Given the description of an element on the screen output the (x, y) to click on. 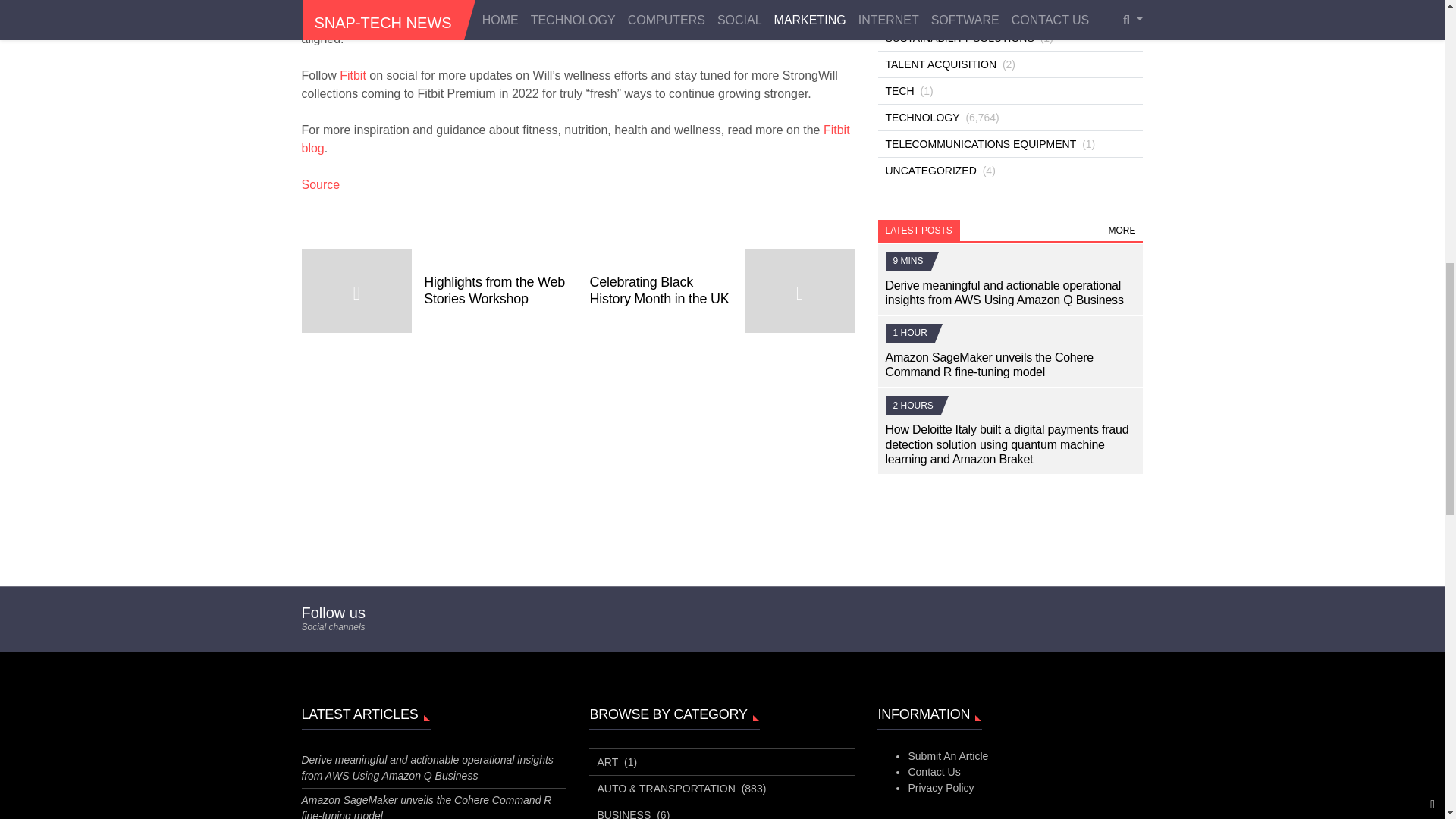
Fitbit blog (575, 138)
Source (320, 184)
Highlights from the Web Stories Workshop (434, 290)
Fitbit (352, 74)
Celebrating Black History Month in the UK (722, 290)
